Given the description of an element on the screen output the (x, y) to click on. 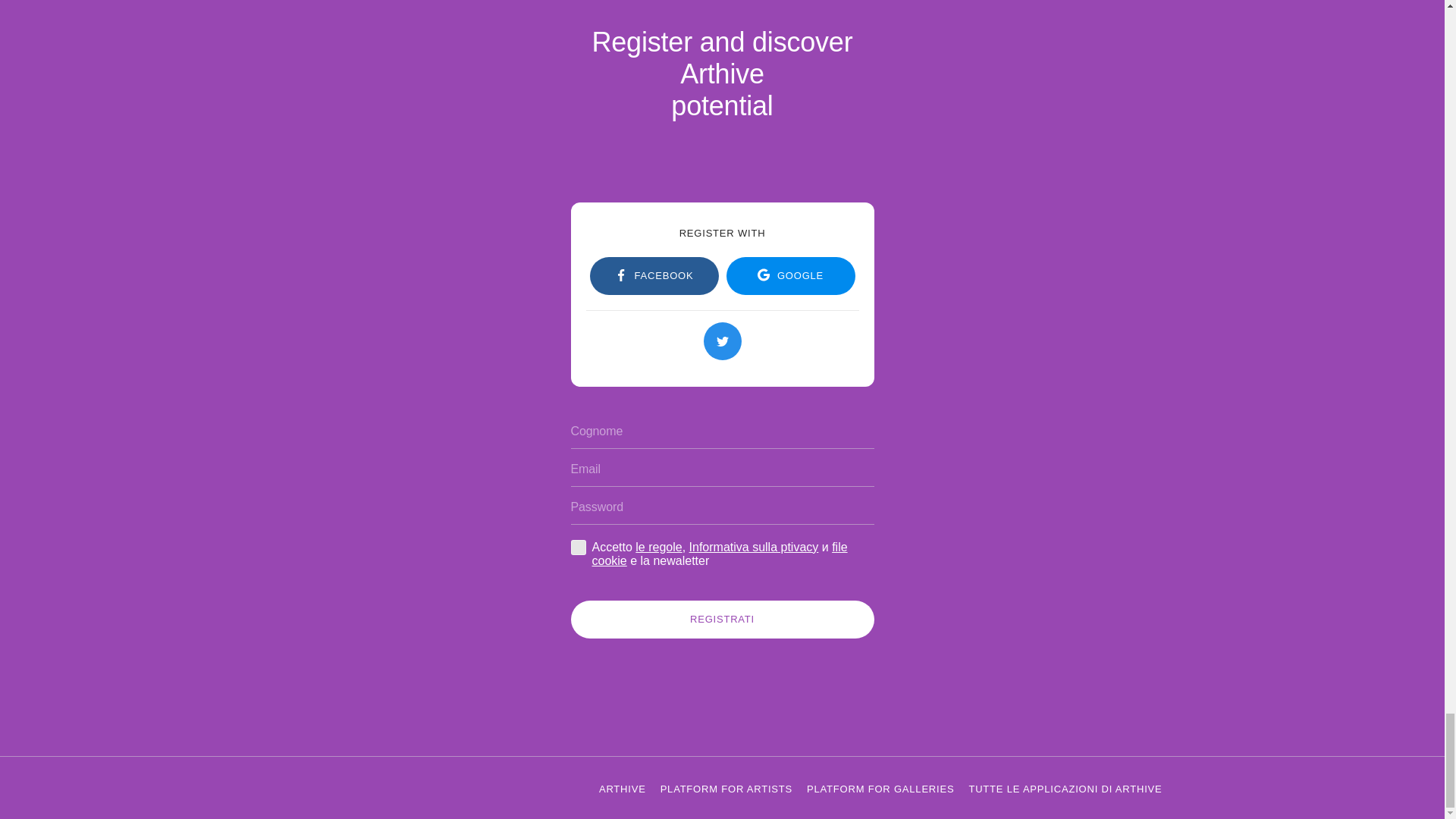
Twitter (722, 341)
file cookie (719, 553)
GOOGLE (791, 275)
REGISTRATI (721, 619)
Google (791, 275)
Facebook (654, 275)
FACEBOOK (654, 275)
Informativa sulla ptivacy (753, 546)
ARTHIVE (622, 788)
PLATFORM FOR GALLERIES (879, 788)
PLATFORM FOR ARTISTS (726, 788)
TUTTE LE APPLICAZIONI DI ARTHIVE (1064, 788)
le regole (657, 546)
